Given the description of an element on the screen output the (x, y) to click on. 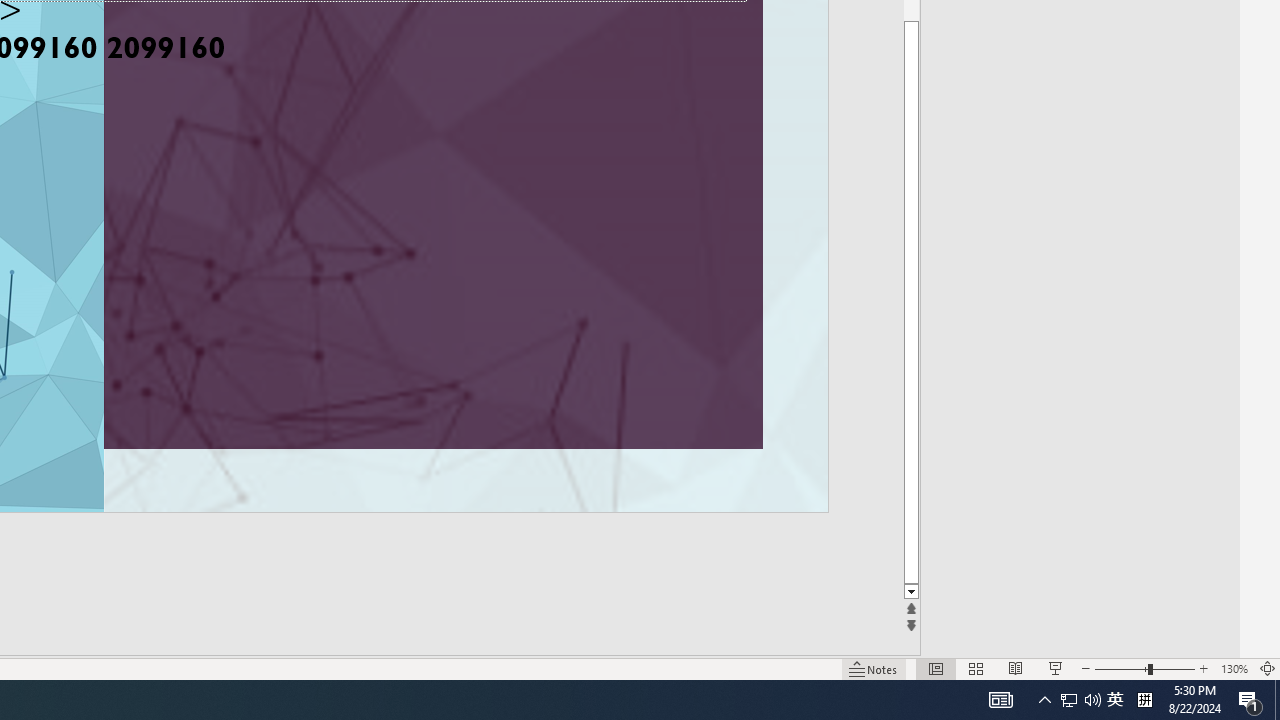
Zoom 130% (1234, 668)
